Given the description of an element on the screen output the (x, y) to click on. 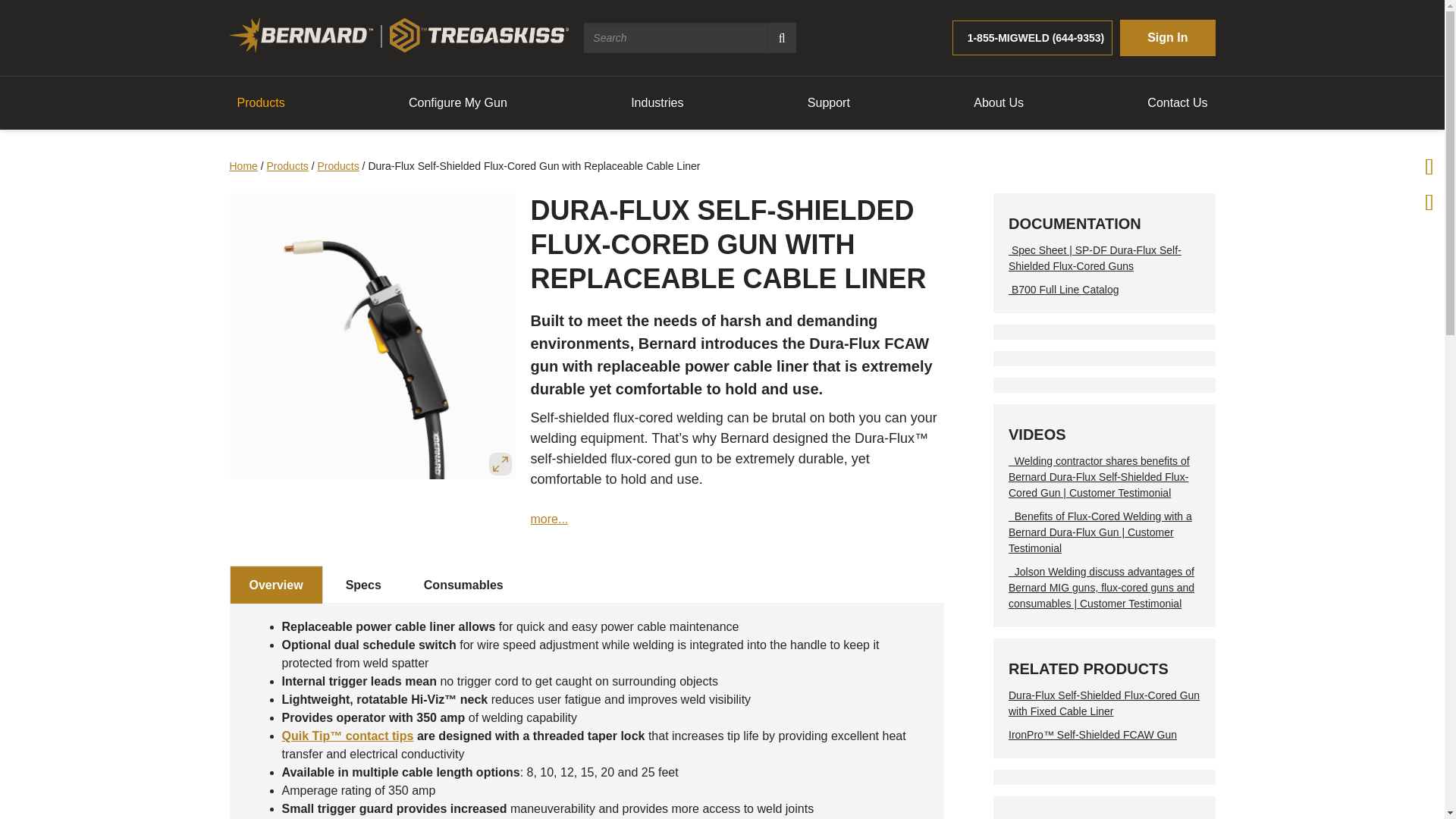
Products (260, 102)
SEARCH (782, 37)
Sign In (1166, 37)
Search for: (675, 37)
